Given the description of an element on the screen output the (x, y) to click on. 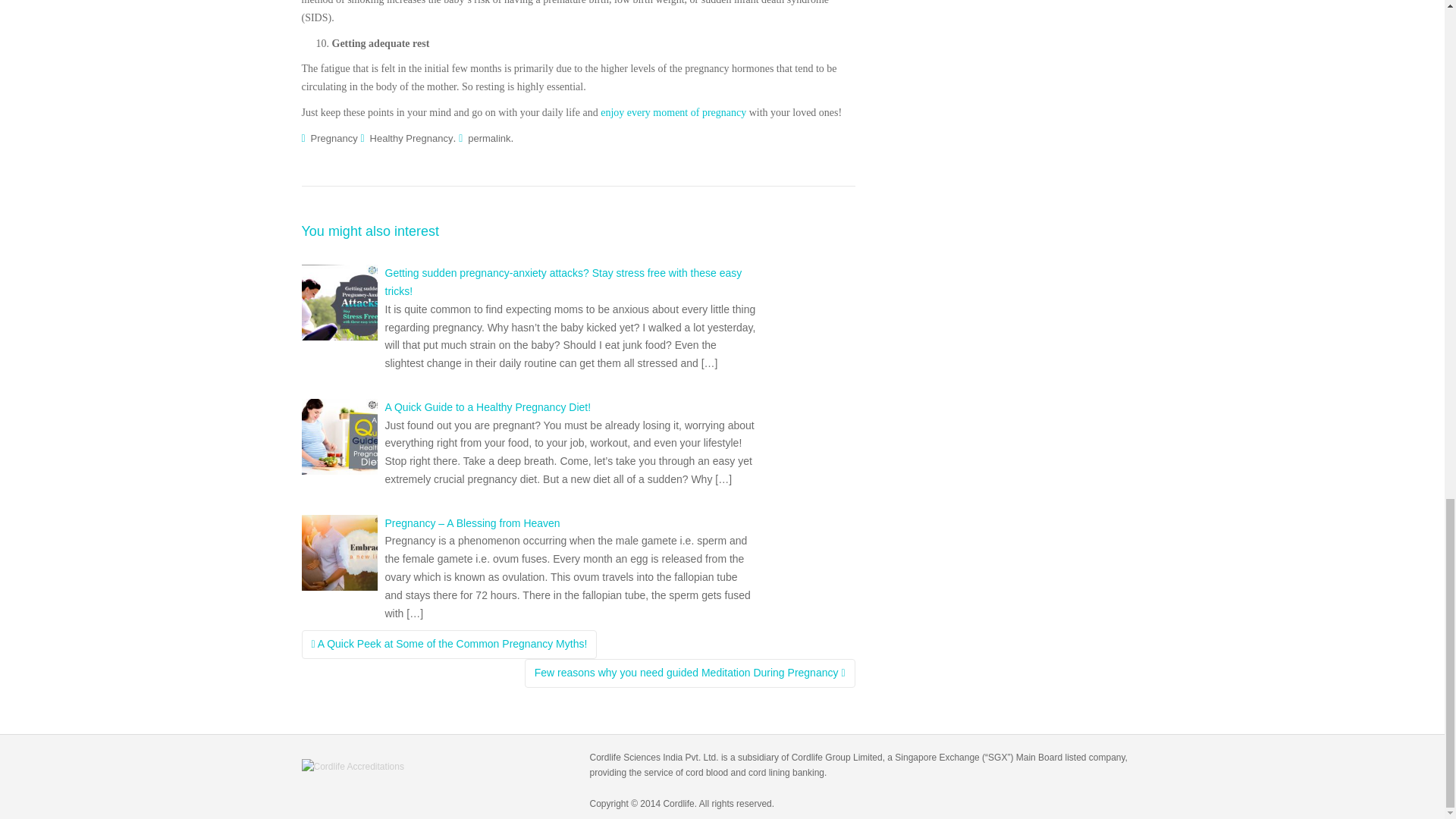
A Quick Peek at Some of the Common Pregnancy Myths! (448, 644)
Healthy Pregnancy (410, 138)
permalink (489, 138)
enjoy every moment of pregnancy (672, 112)
Pregnancy (334, 138)
A Quick Guide to a Healthy Pregnancy Diet! (488, 407)
Permanent Link to A Quick Guide to a Healthy Pregnancy Diet! (488, 407)
Few reasons why you need guided Meditation During Pregnancy (690, 673)
